Given the description of an element on the screen output the (x, y) to click on. 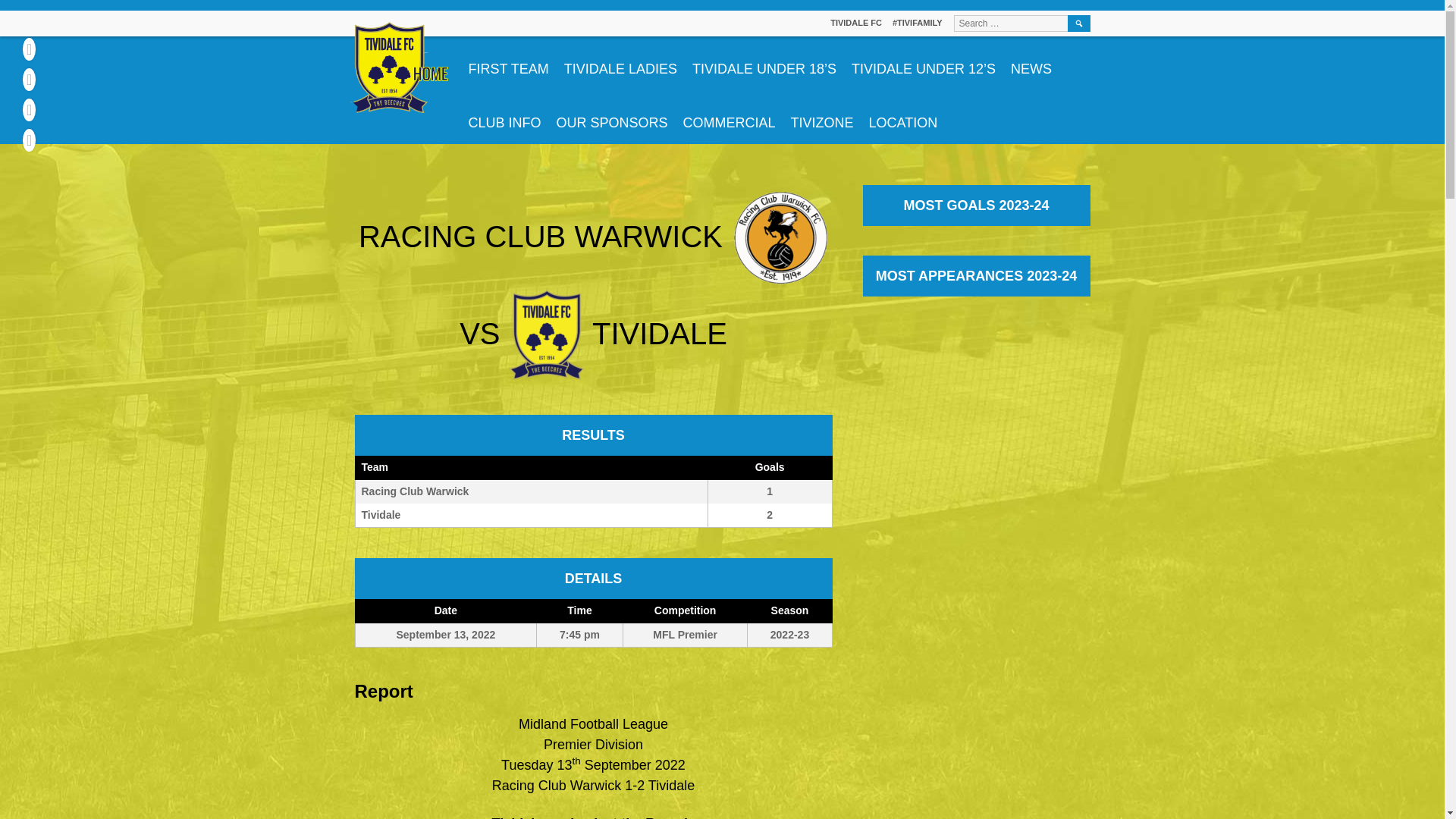
TIVIDALE FC (855, 22)
LOCATION (902, 117)
TIVIDALE LADIES (593, 491)
FIRST TEAM (620, 63)
Search (508, 63)
NEWS (1078, 23)
COMMERCIAL (1031, 63)
OUR SPONSORS (593, 491)
CLUB INFO (729, 117)
TIVIZONE (611, 117)
